Given the description of an element on the screen output the (x, y) to click on. 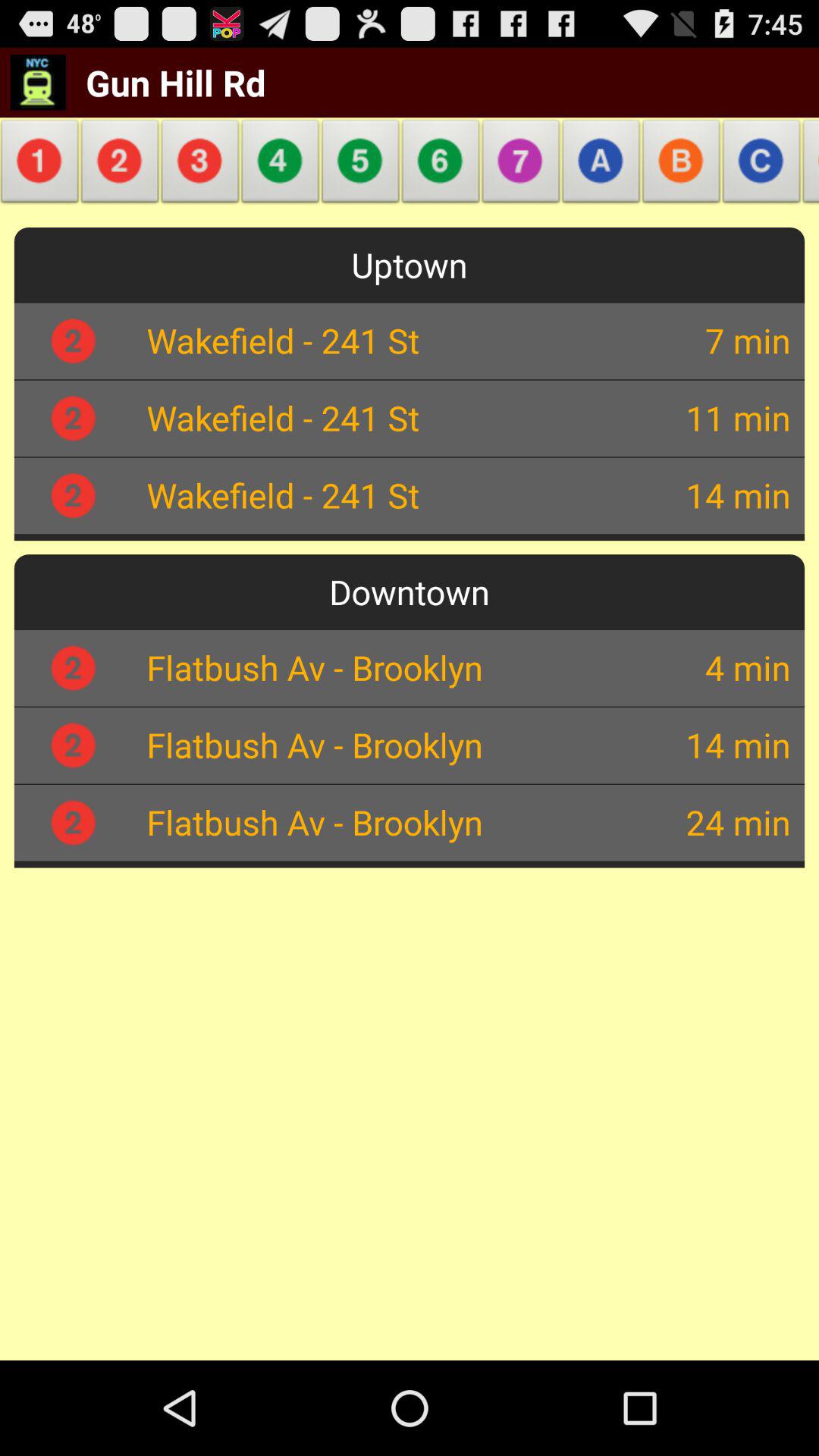
click app above the uptown icon (42, 165)
